Given the description of an element on the screen output the (x, y) to click on. 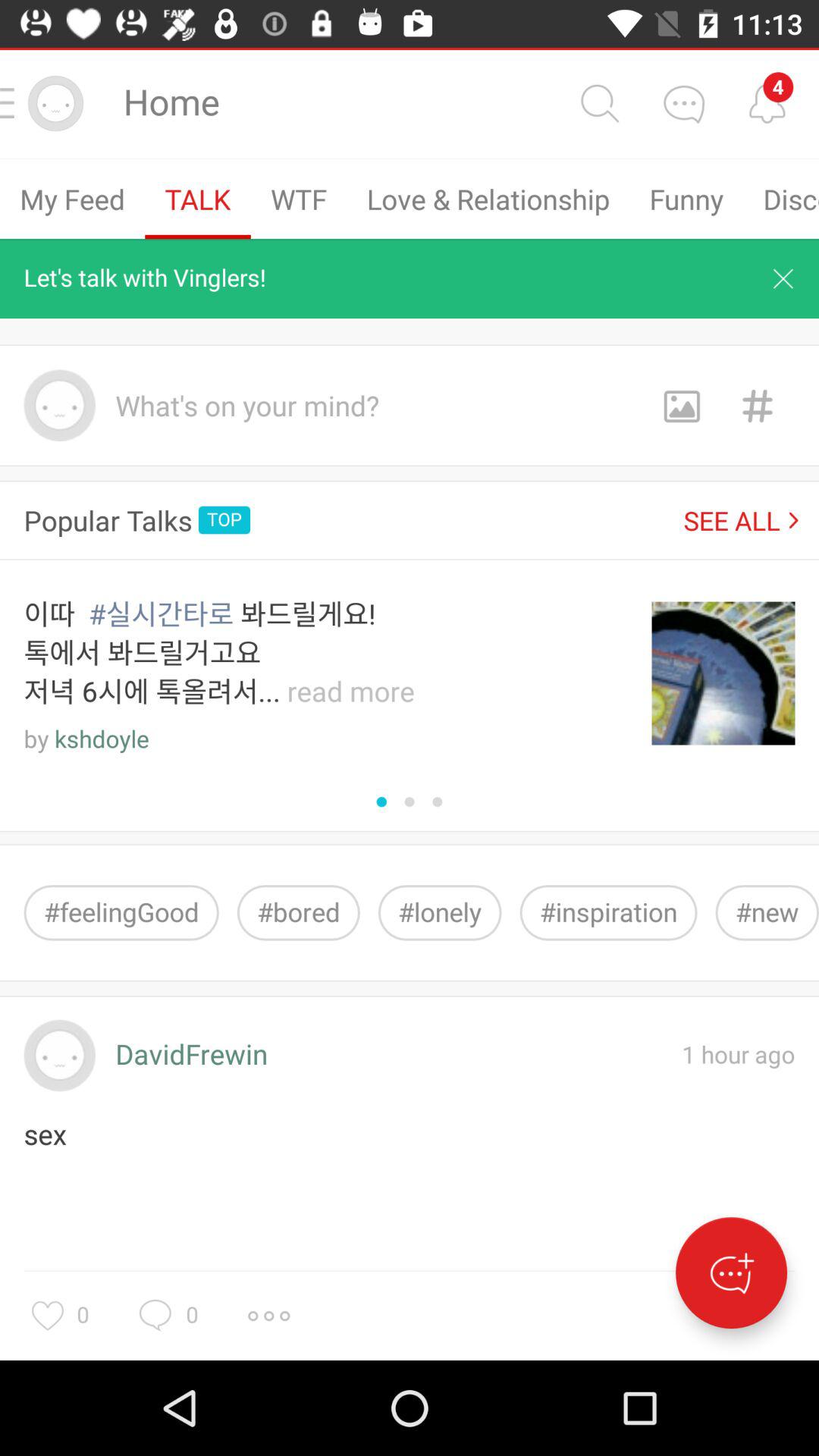
comment (683, 103)
